Given the description of an element on the screen output the (x, y) to click on. 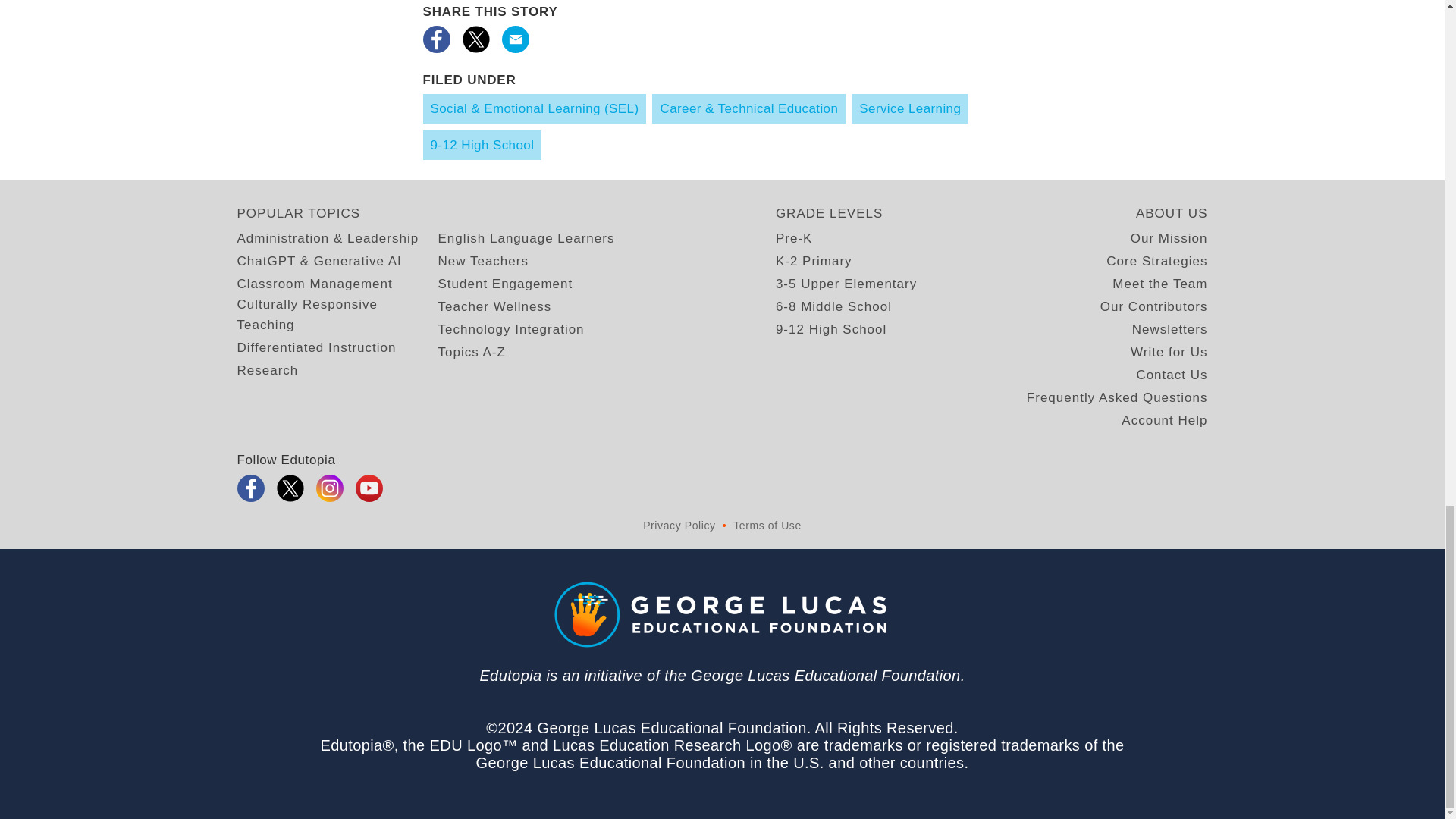
Differentiated Instruction (315, 347)
Technology Integration (511, 329)
Teacher Wellness (494, 306)
English Language Learners (526, 238)
New Teachers (483, 260)
Topics A-Z (471, 352)
9-12 High School (482, 144)
Service Learning (909, 108)
Student Engagement (505, 283)
Classroom Management (313, 283)
